Given the description of an element on the screen output the (x, y) to click on. 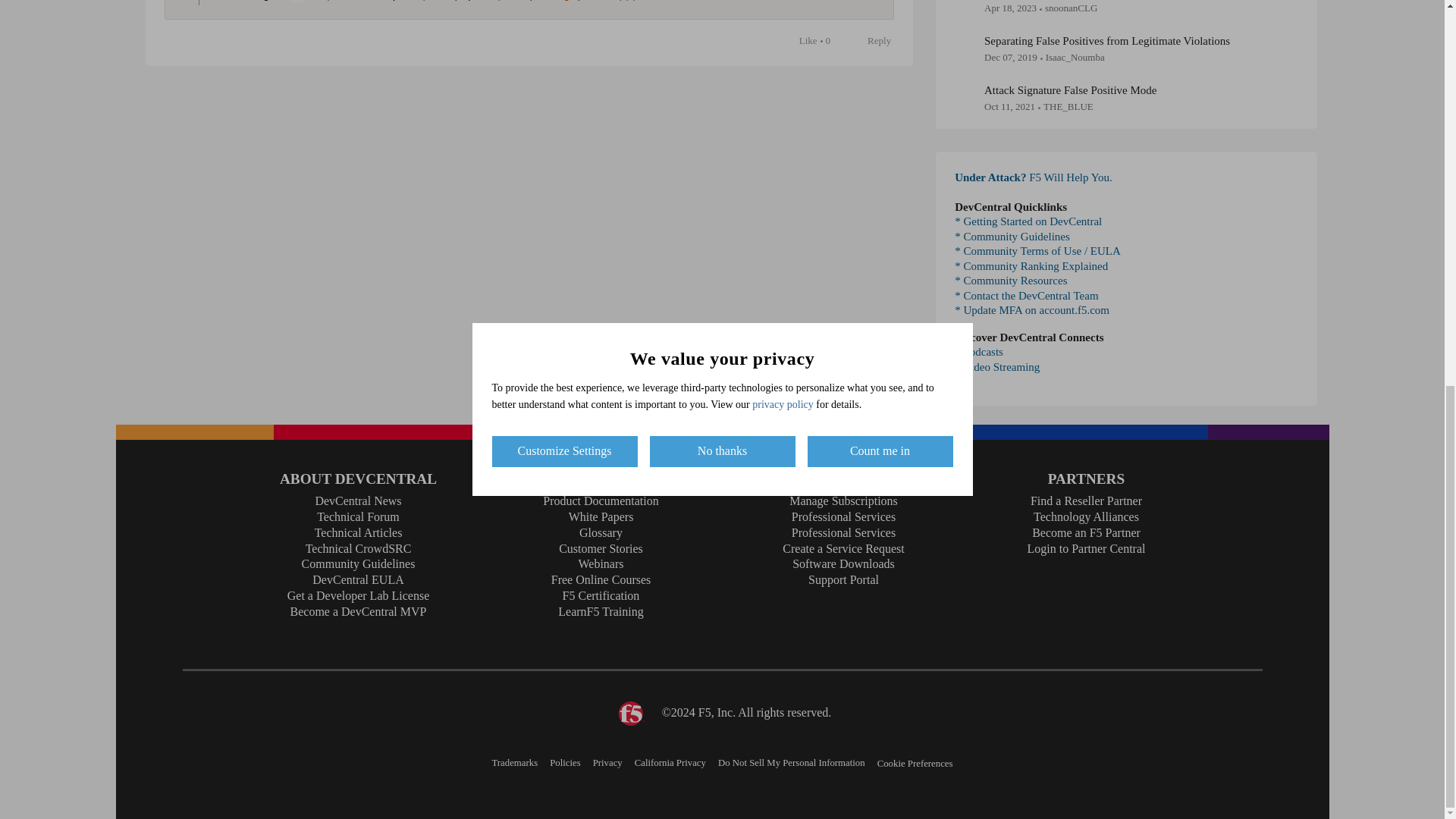
April 18, 2023 at 2:47 PM (1010, 7)
